Given the description of an element on the screen output the (x, y) to click on. 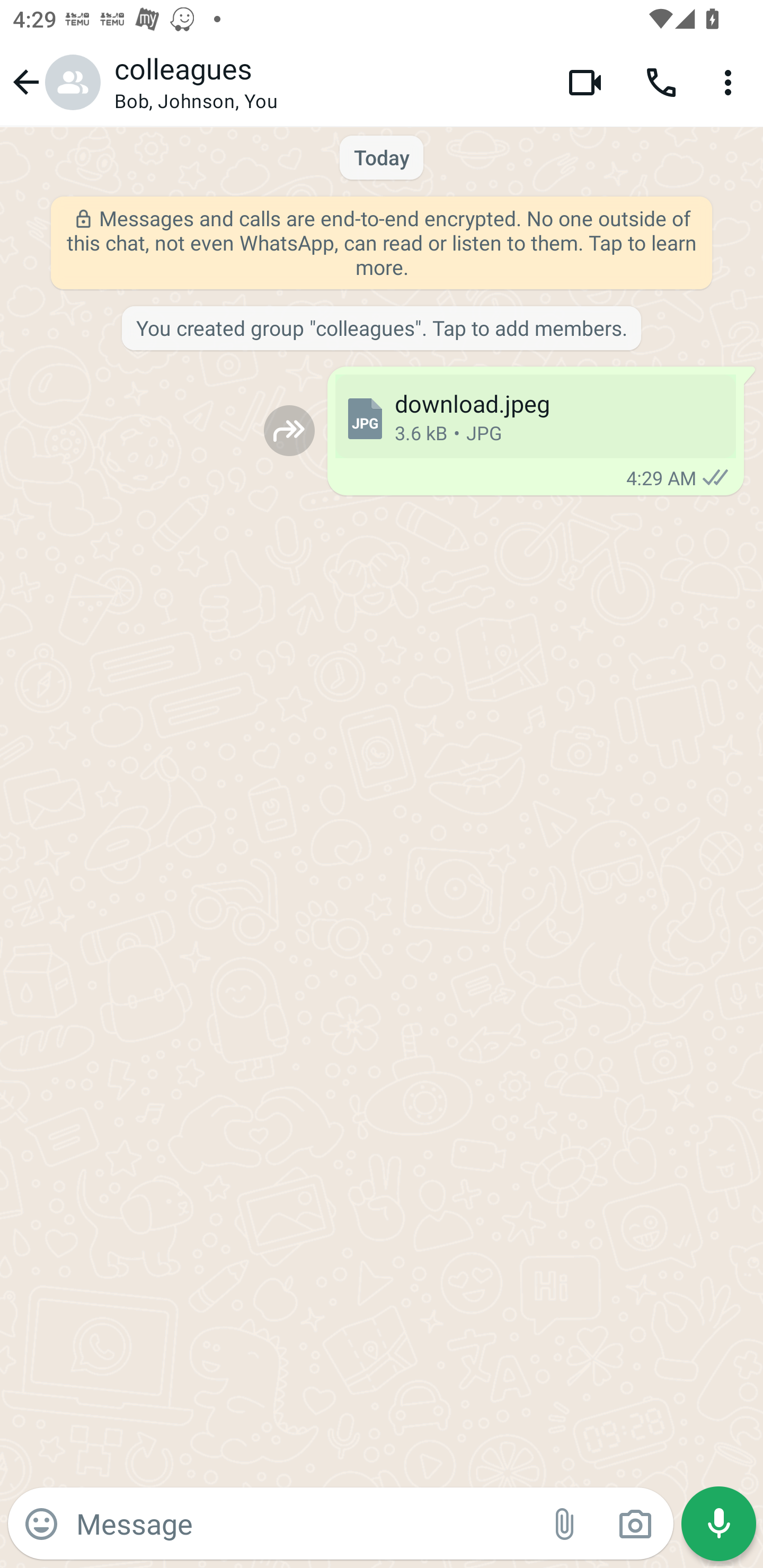
colleagues Bob, Johnson, You (327, 82)
Navigate up (54, 82)
Video call (585, 81)
Voice call (661, 81)
More options (731, 81)
download.jpeg 3.6 kB • JPG (535, 415)
Forward to… (288, 430)
Emoji (41, 1523)
Attach (565, 1523)
Camera (634, 1523)
Message (303, 1523)
